Given the description of an element on the screen output the (x, y) to click on. 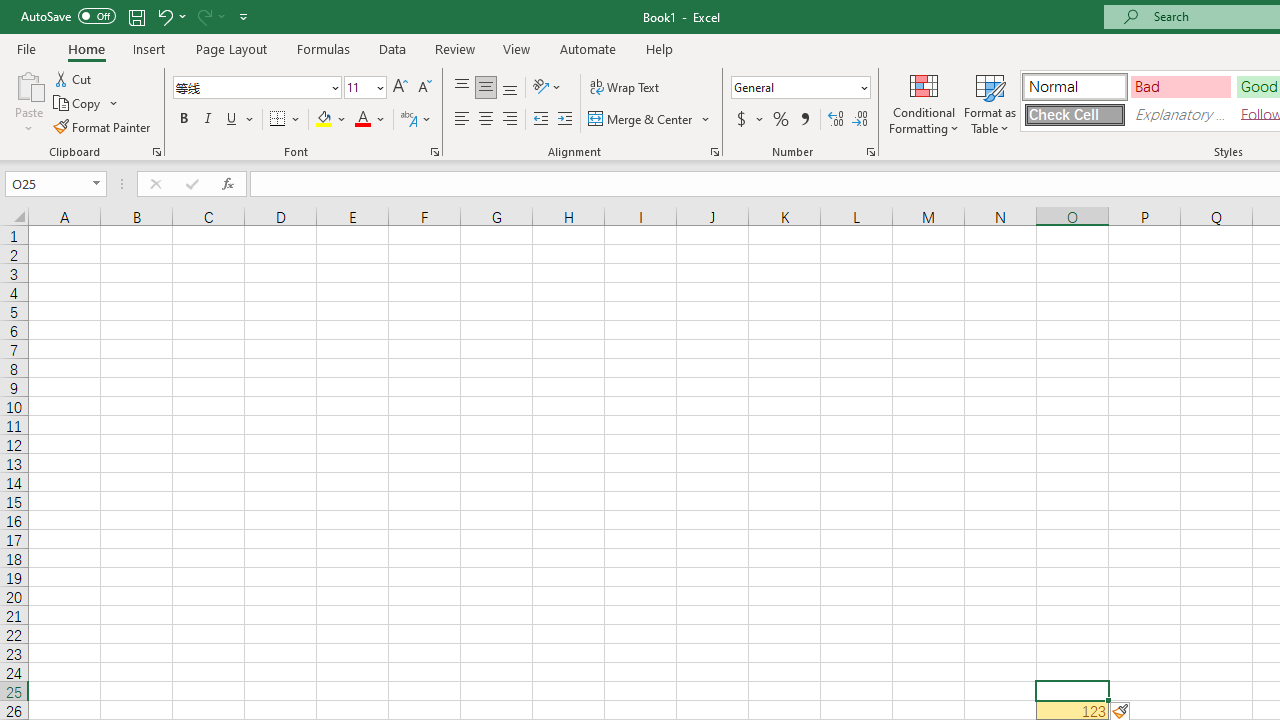
Copy (85, 103)
Data (392, 48)
Underline (232, 119)
Open (96, 183)
Help (660, 48)
Save (136, 15)
Borders (285, 119)
Increase Decimal (836, 119)
Middle Align (485, 87)
Accounting Number Format (741, 119)
Fill Color (331, 119)
Wrap Text (624, 87)
Merge & Center (641, 119)
